Given the description of an element on the screen output the (x, y) to click on. 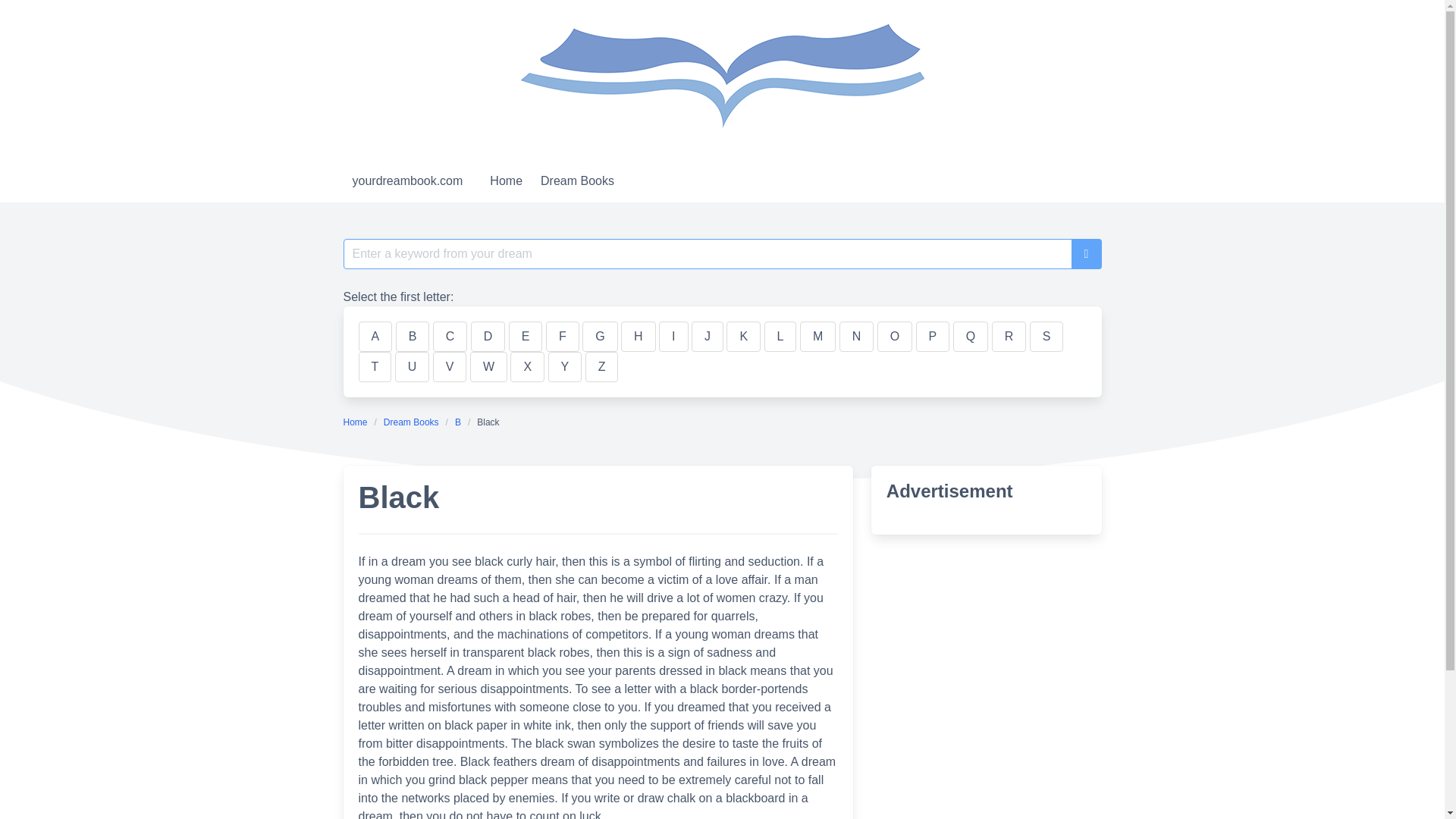
D (487, 336)
Dream Books (411, 422)
O (894, 336)
Q (970, 336)
Dream Books (577, 180)
Black (487, 422)
X (527, 367)
yourdreambook.com (406, 180)
J (707, 336)
C (449, 336)
